Given the description of an element on the screen output the (x, y) to click on. 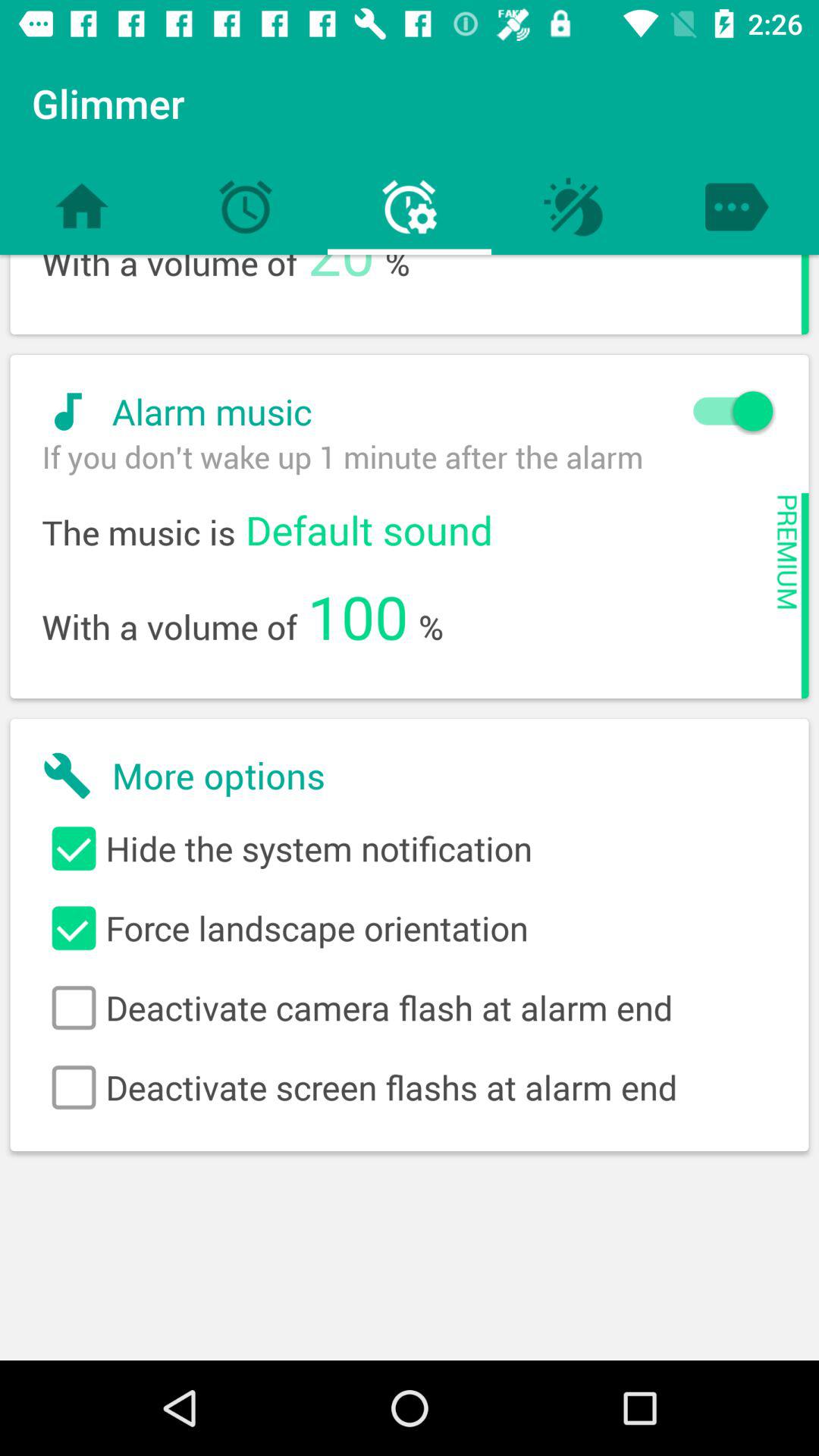
select item below the deactivate camera flash icon (409, 1087)
